Given the description of an element on the screen output the (x, y) to click on. 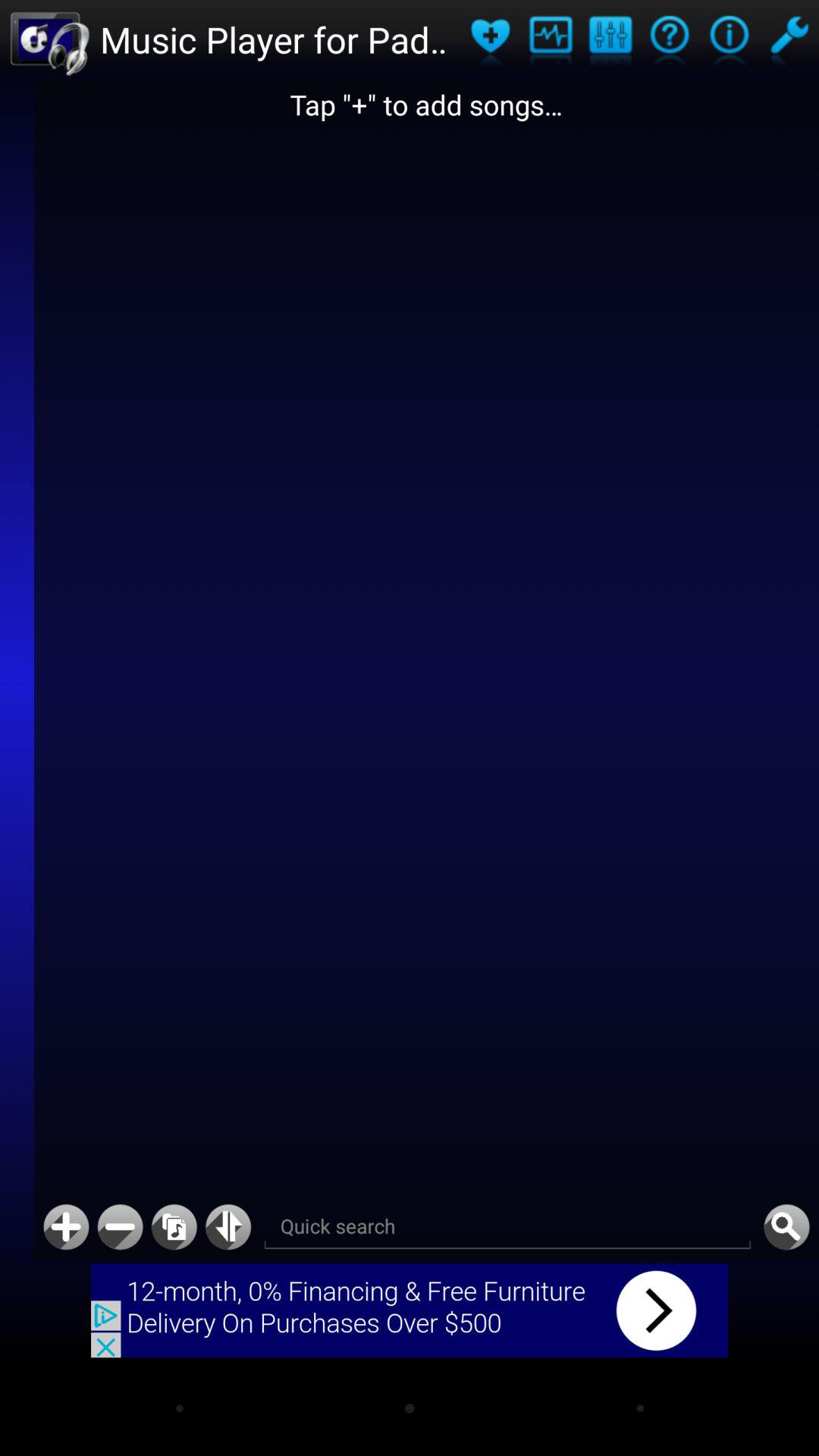
go to advertisement (409, 1310)
